Given the description of an element on the screen output the (x, y) to click on. 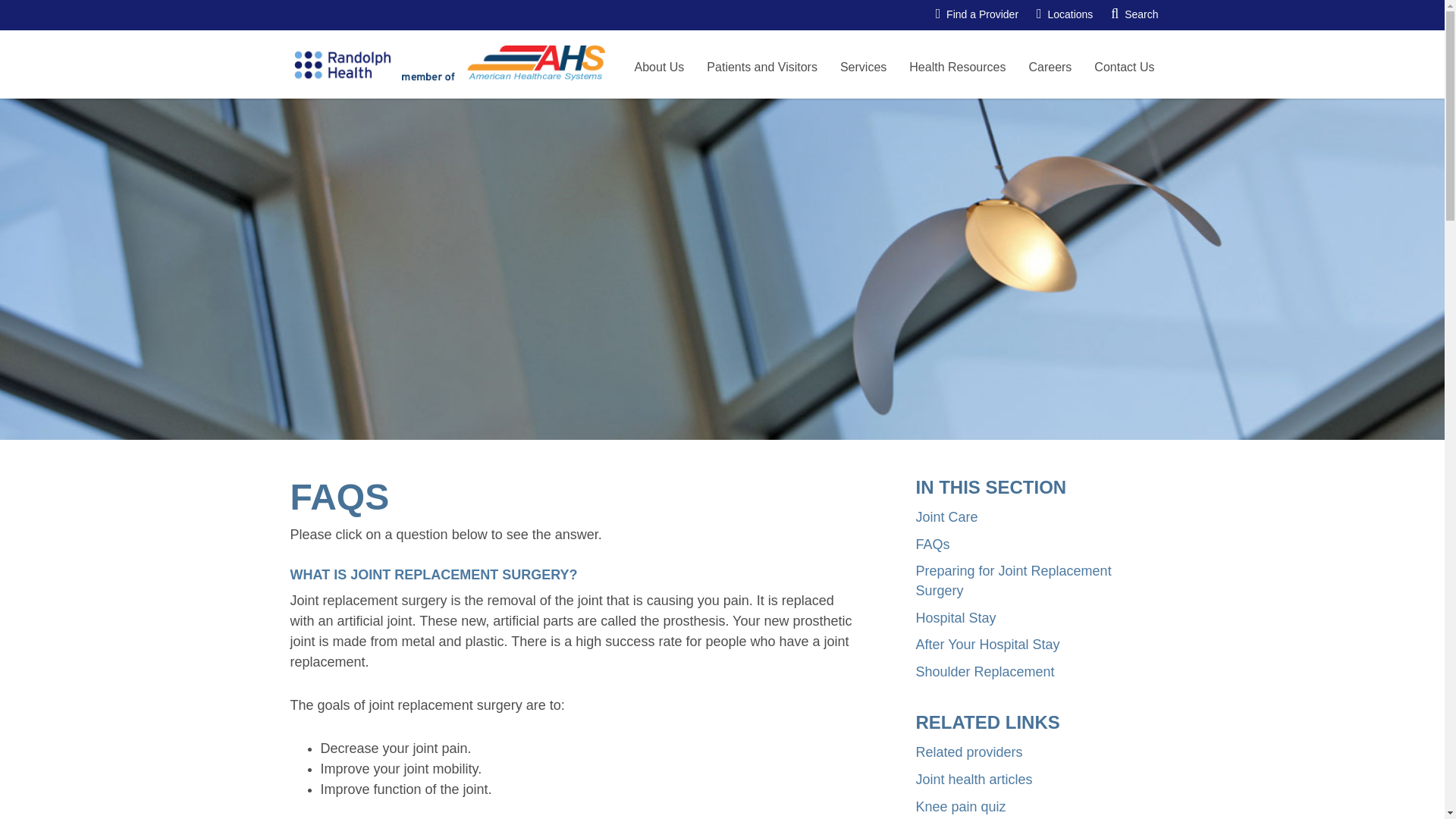
American Healthcare Systems (526, 64)
Locations (1064, 15)
Randolph Health (363, 64)
Patients and Visitors (761, 67)
Search (1134, 15)
About Us (659, 67)
Hospital Stay (955, 617)
After Your Hospital Stay (987, 644)
Shoulder Replacement (984, 671)
Find a Provider (977, 15)
